Given the description of an element on the screen output the (x, y) to click on. 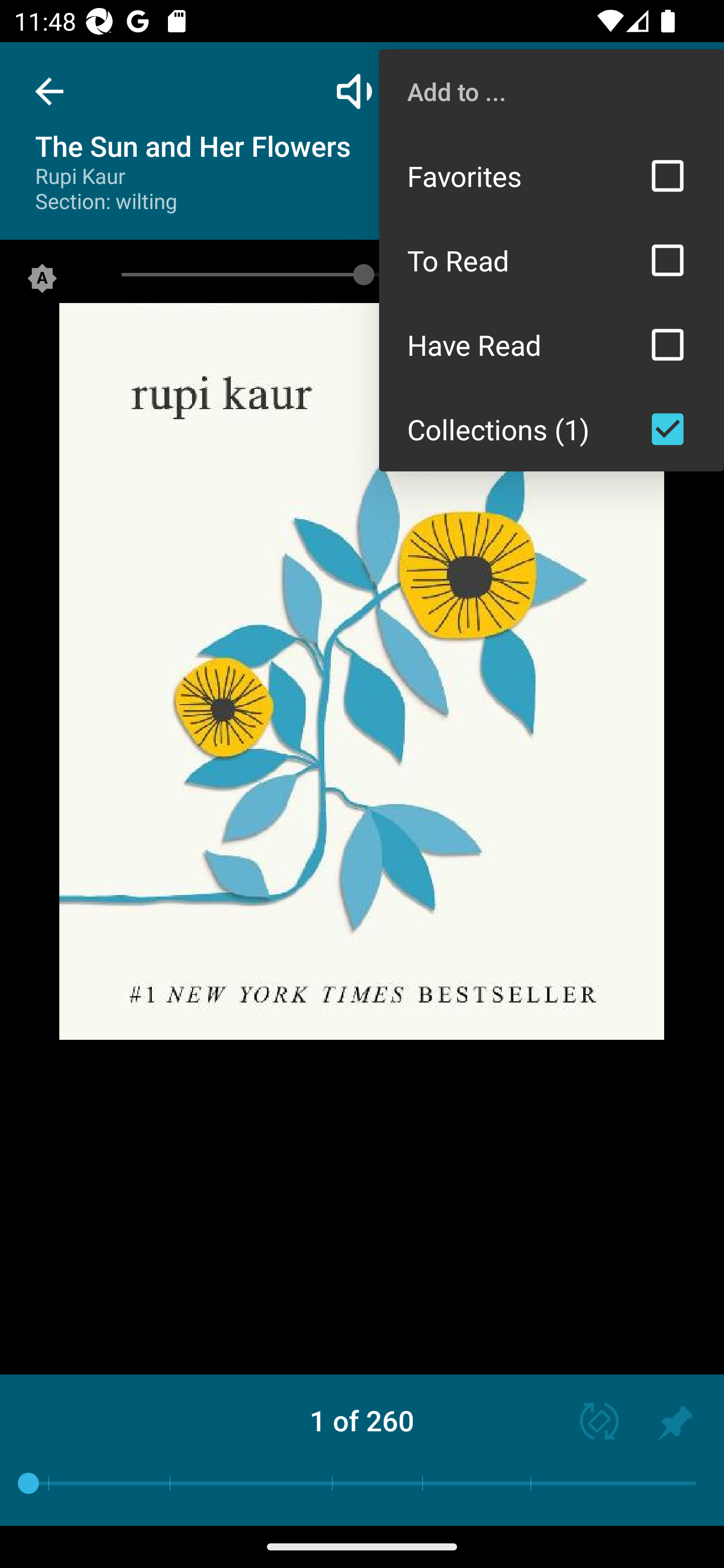
Favorites (551, 175)
To Read (551, 259)
Have Read (551, 344)
Collections (1) (551, 429)
